Given the description of an element on the screen output the (x, y) to click on. 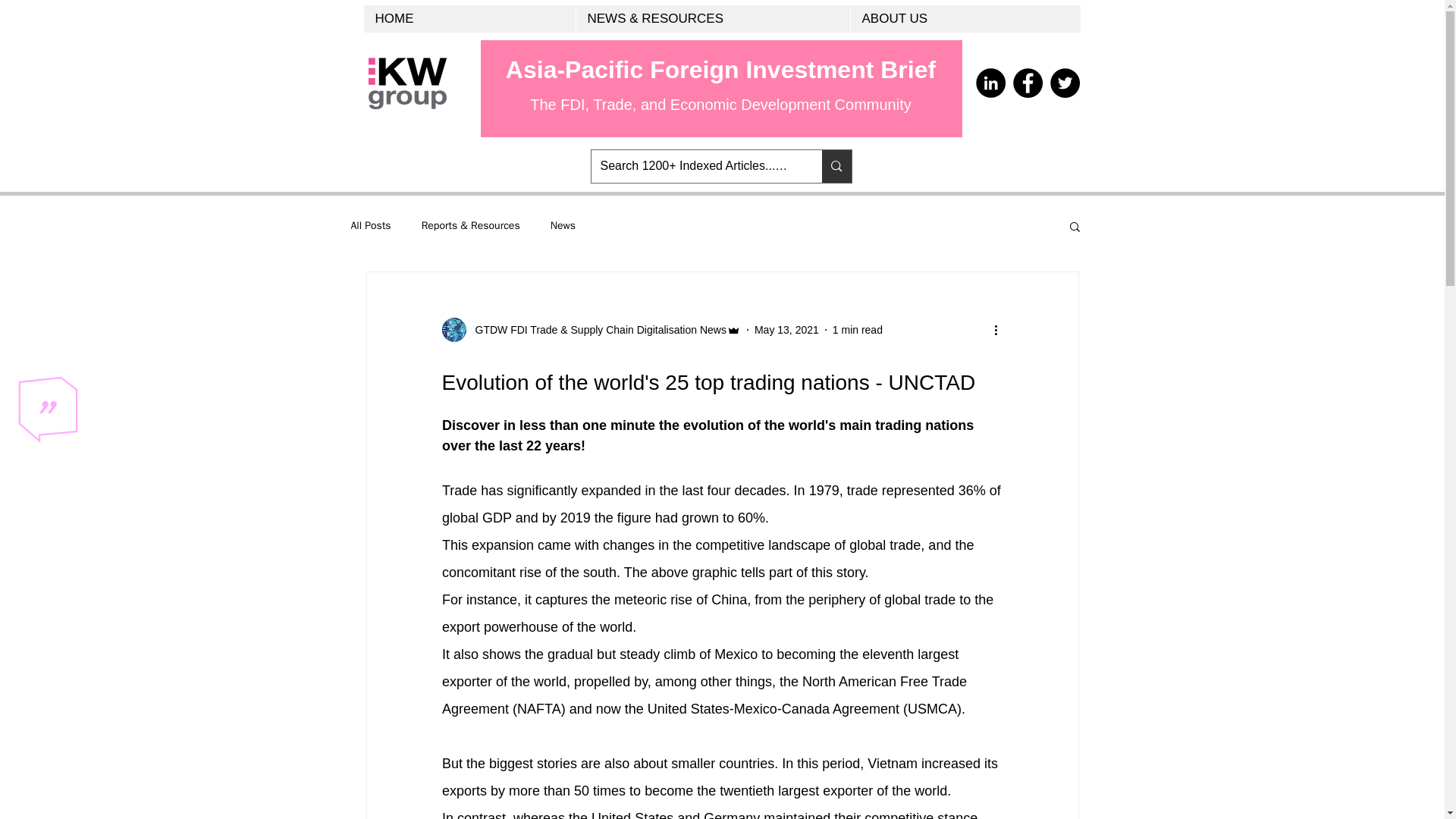
HOME (469, 18)
ABOUT US (964, 18)
1 min read (857, 328)
All Posts (370, 225)
News (562, 225)
May 13, 2021 (786, 328)
